Given the description of an element on the screen output the (x, y) to click on. 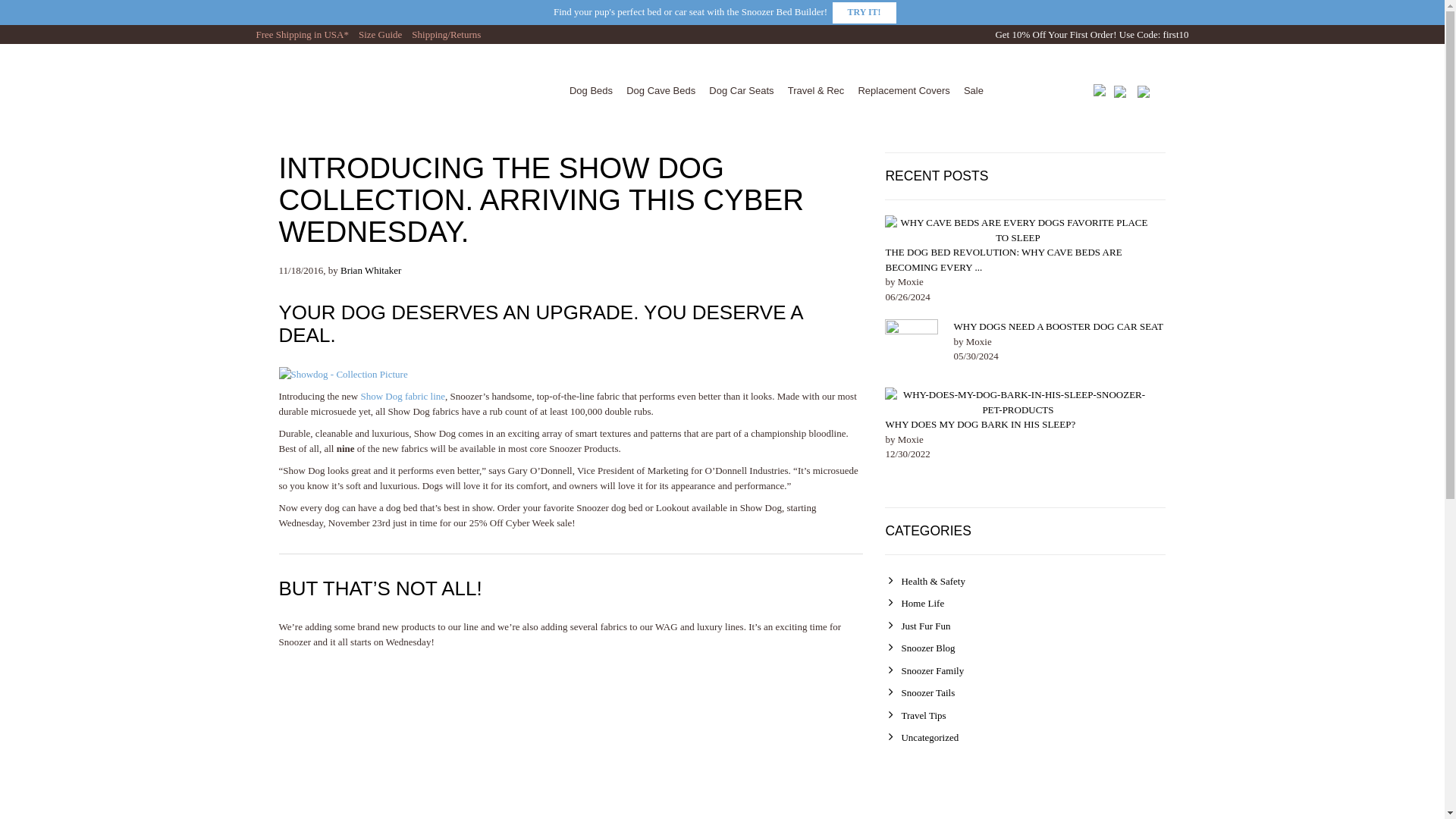
Why does my dog bark in his sleep? (1017, 401)
Why Dogs Need a Booster Dog Car Seat (911, 345)
Posts by Brian Whitaker (370, 270)
Why Dogs Need a Booster Dog Car Seat (1058, 326)
Show Dog Collection by Snoozer (402, 396)
Why does my dog bark in his sleep? (980, 423)
